Given the description of an element on the screen output the (x, y) to click on. 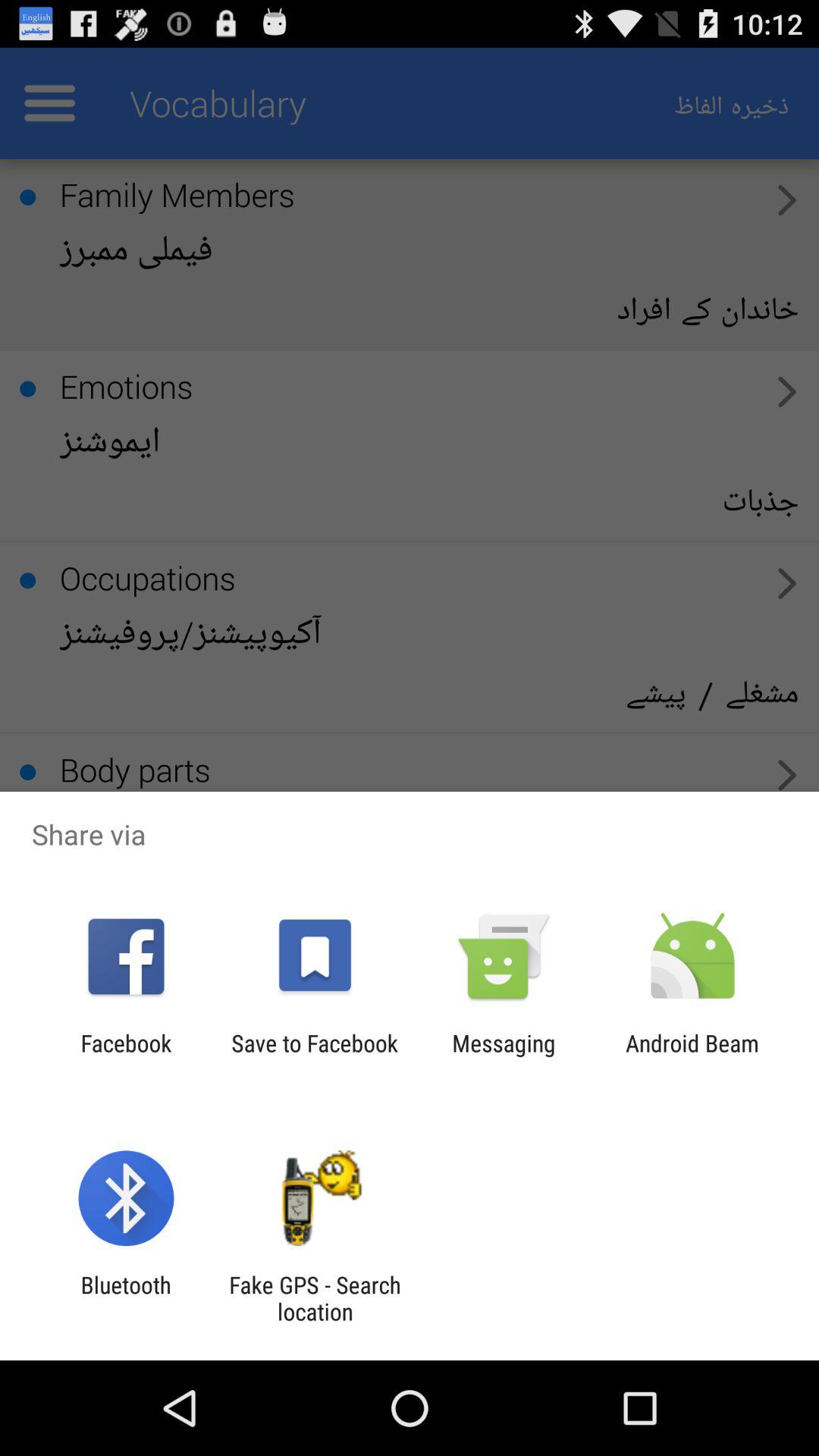
press the item to the left of fake gps search app (125, 1298)
